Given the description of an element on the screen output the (x, y) to click on. 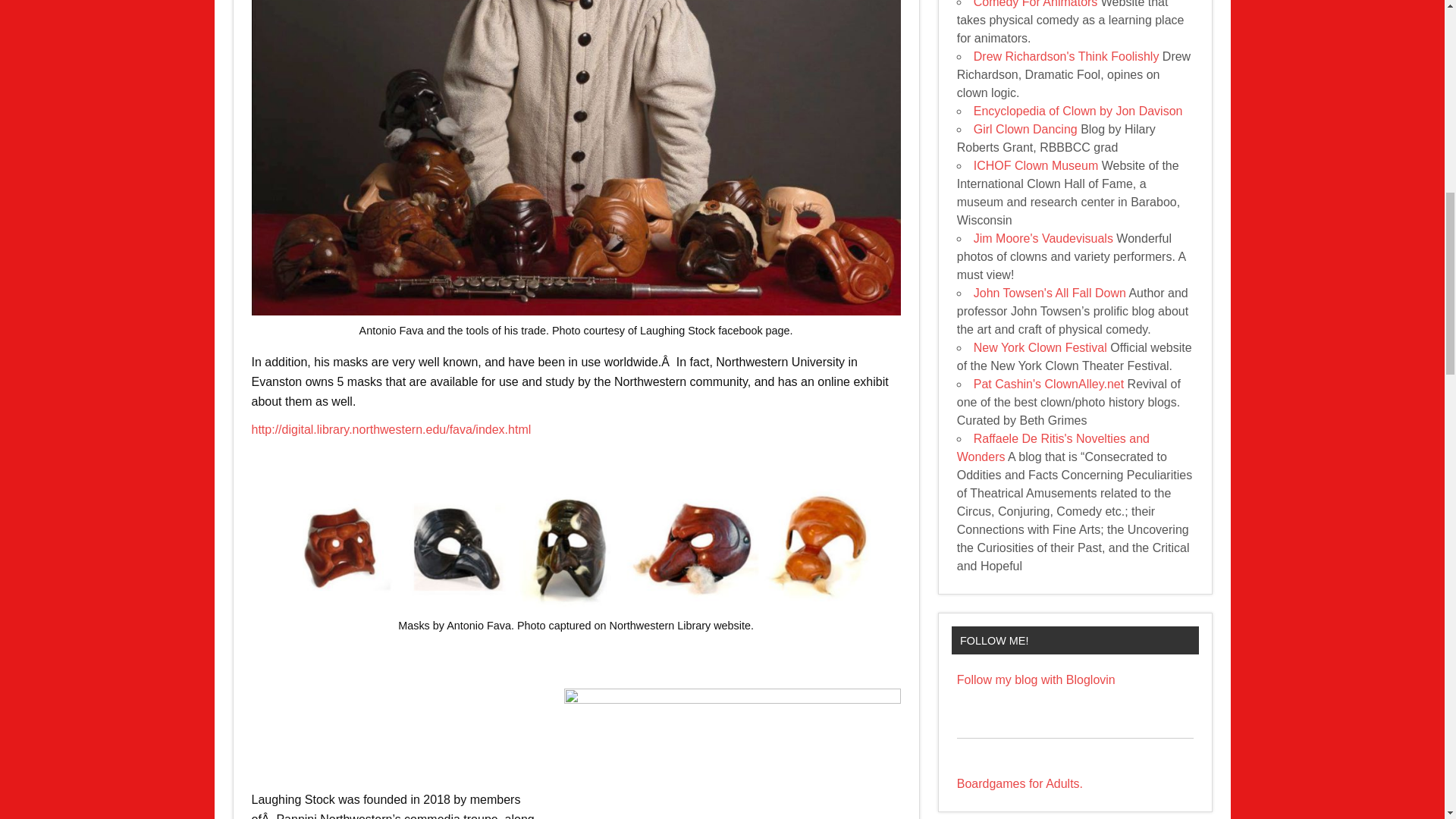
Drew Richardson, Dramatic Fool, opines on clown logic. (1066, 56)
Blog by Hilary Roberts Grant, RBBBCC grad (1025, 128)
Official website of the New York Clown Theater Festival. (1040, 347)
